Given the description of an element on the screen output the (x, y) to click on. 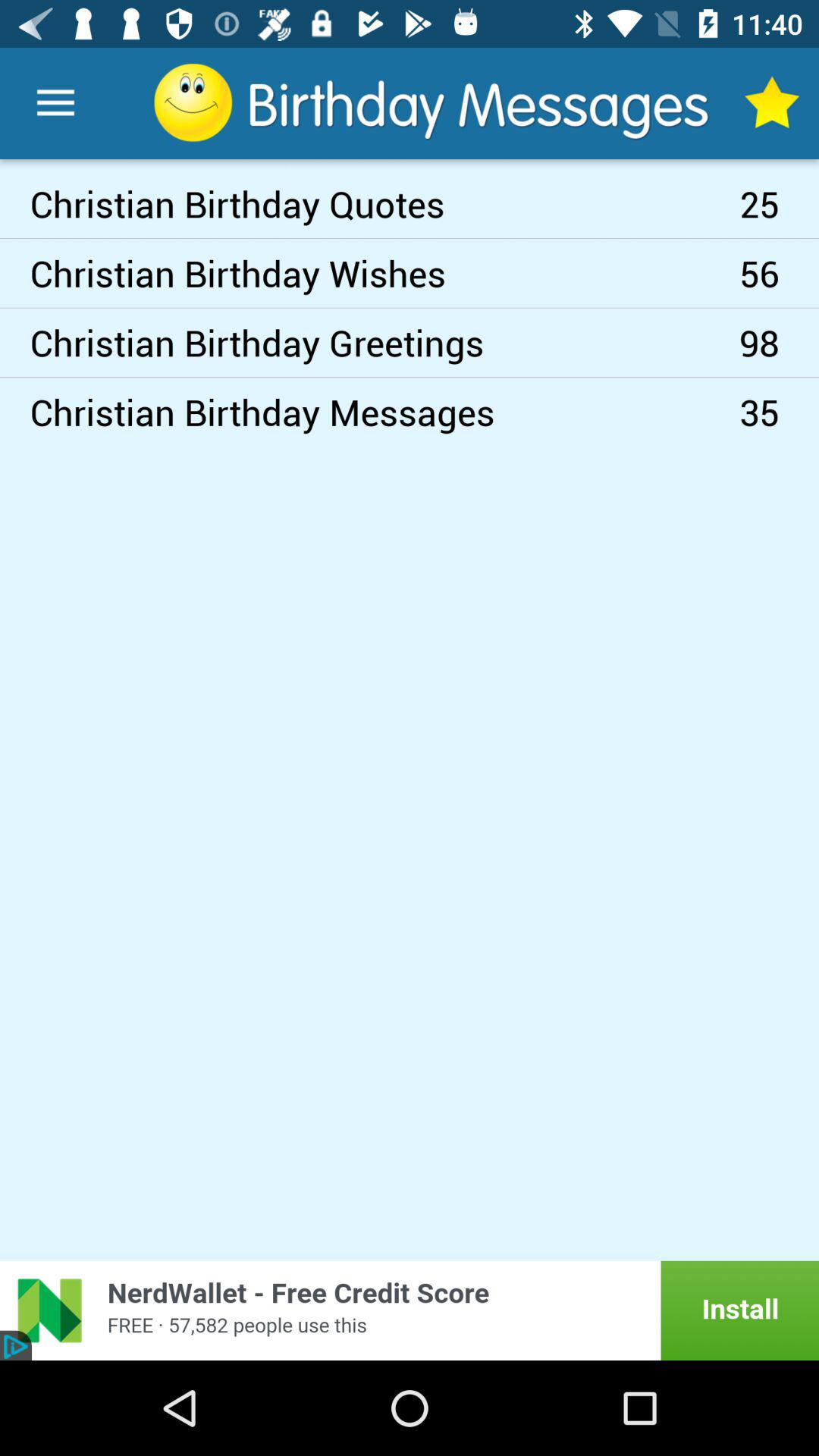
select the item above the 25 icon (771, 103)
